Given the description of an element on the screen output the (x, y) to click on. 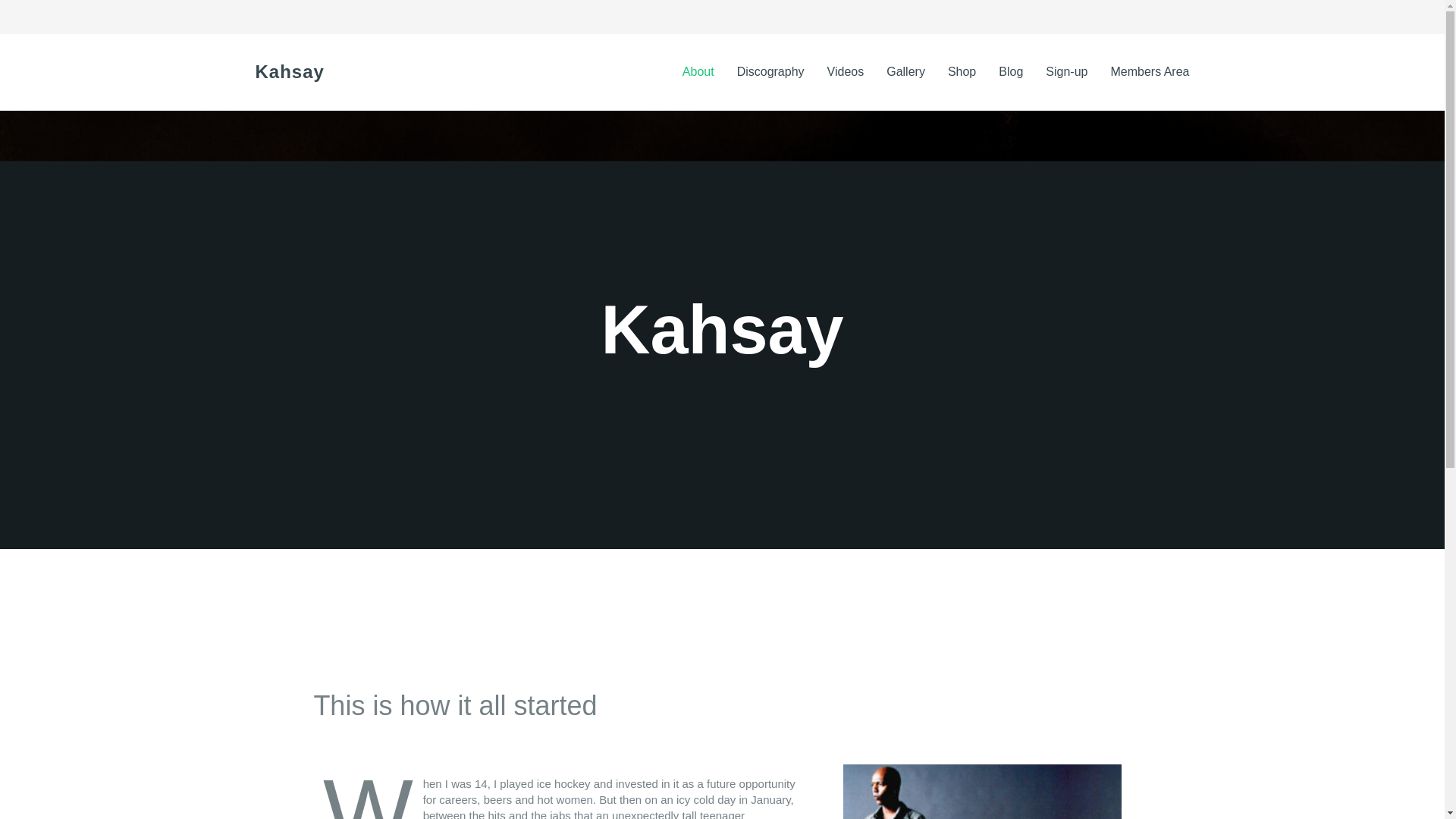
Members Area (1149, 71)
Sign-up (1066, 71)
Gallery (905, 71)
Kahsay (288, 71)
Videos (845, 71)
About (698, 71)
Discography (770, 71)
